Given the description of an element on the screen output the (x, y) to click on. 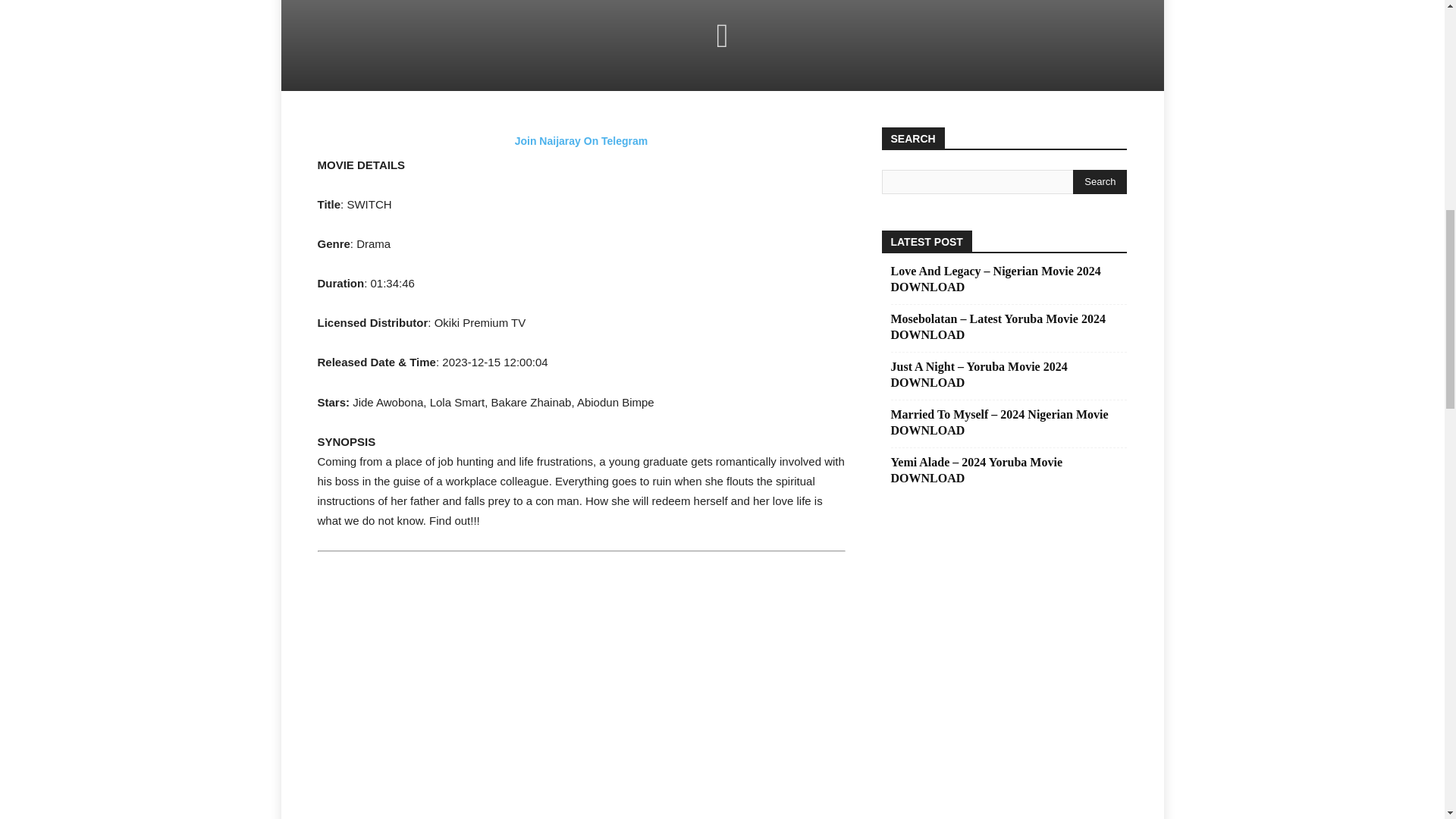
Search (1099, 181)
